Given the description of an element on the screen output the (x, y) to click on. 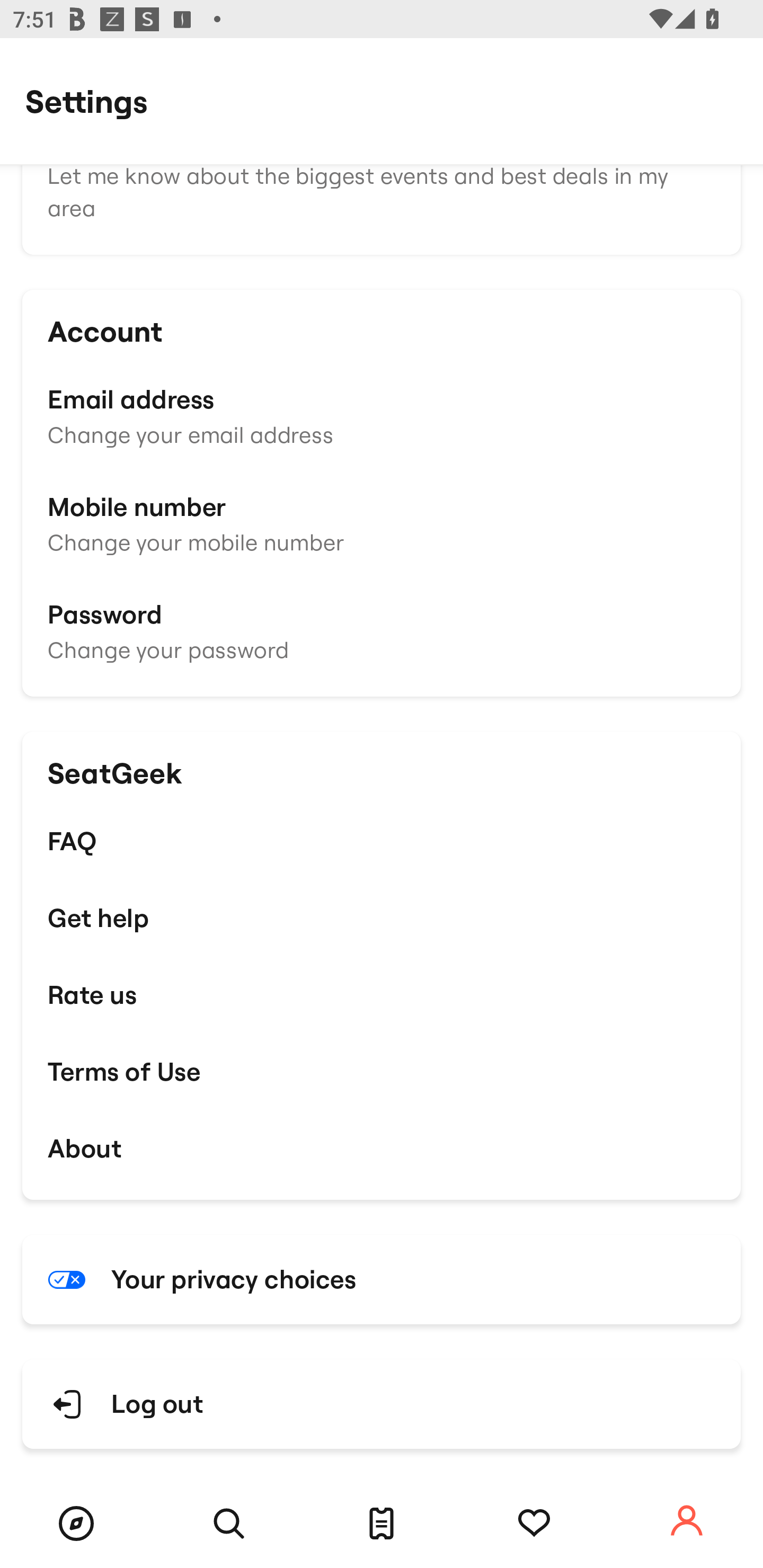
Email address Change your email address (381, 414)
Mobile number Change your mobile number (381, 522)
Password Change your password (381, 630)
FAQ (381, 840)
Get help (381, 917)
Rate us (381, 994)
Terms of Use (381, 1071)
About (381, 1148)
Your privacy choices (381, 1279)
Log out (381, 1403)
Browse (76, 1523)
Search (228, 1523)
Tickets (381, 1523)
Tracking (533, 1523)
Account (686, 1521)
